Given the description of an element on the screen output the (x, y) to click on. 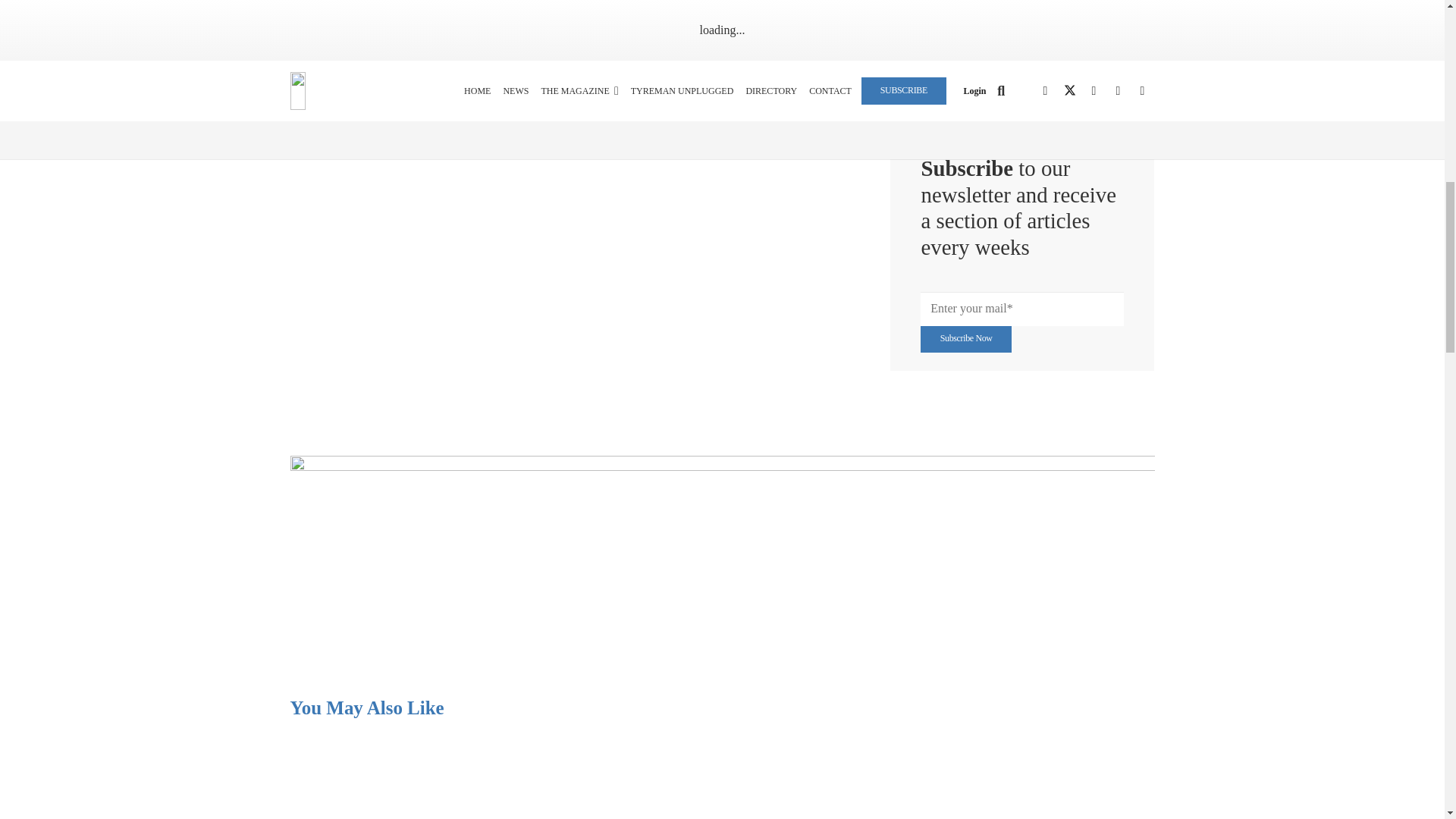
Subscribe Now (965, 338)
